Given the description of an element on the screen output the (x, y) to click on. 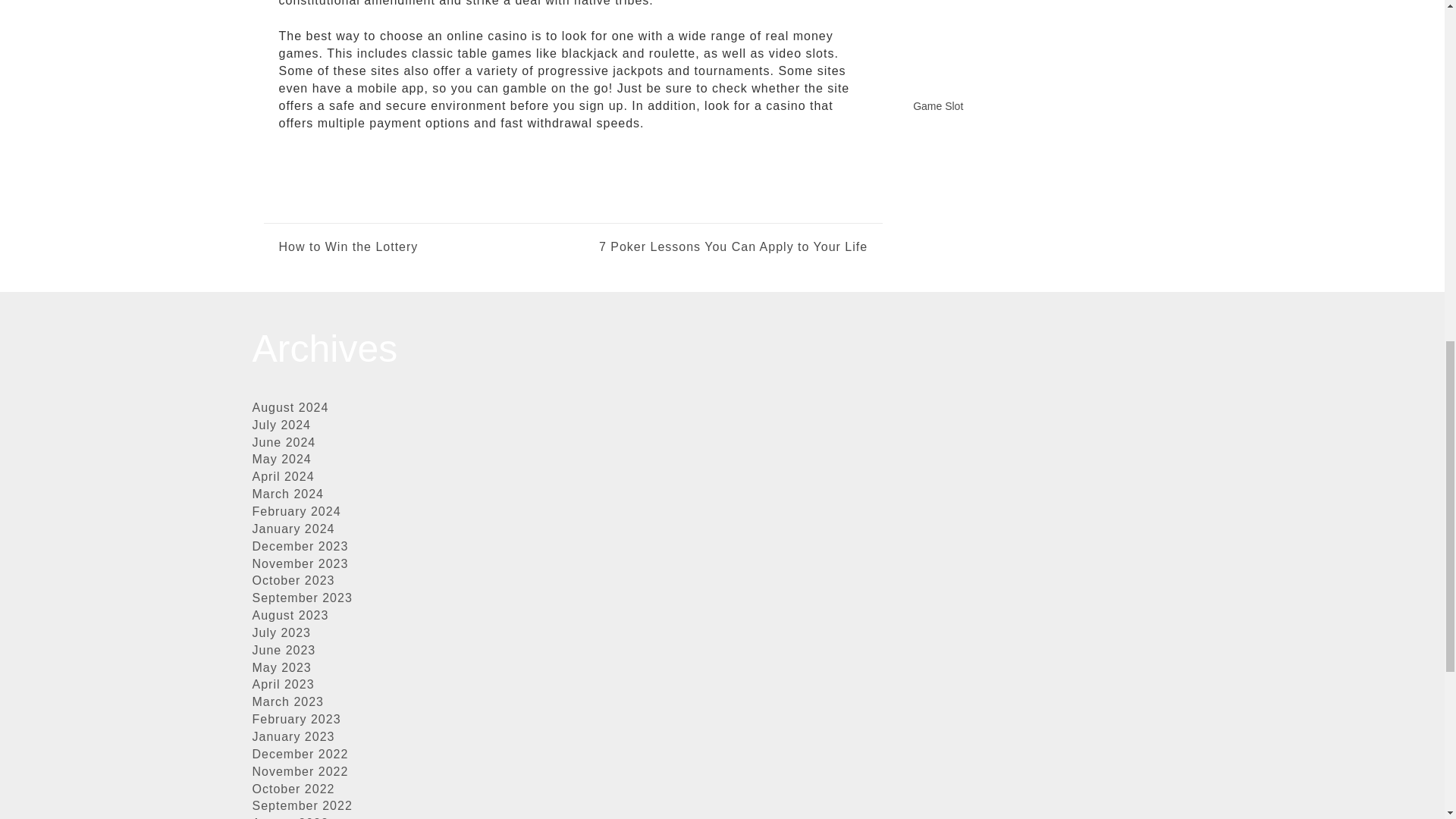
November 2023 (299, 563)
July 2023 (281, 632)
March 2023 (287, 701)
7 Poker Lessons You Can Apply to Your Life (720, 247)
How to Win the Lottery (349, 247)
Game Slot (937, 105)
August 2023 (290, 615)
March 2024 (287, 493)
August 2024 (290, 407)
May 2024 (281, 459)
